Given the description of an element on the screen output the (x, y) to click on. 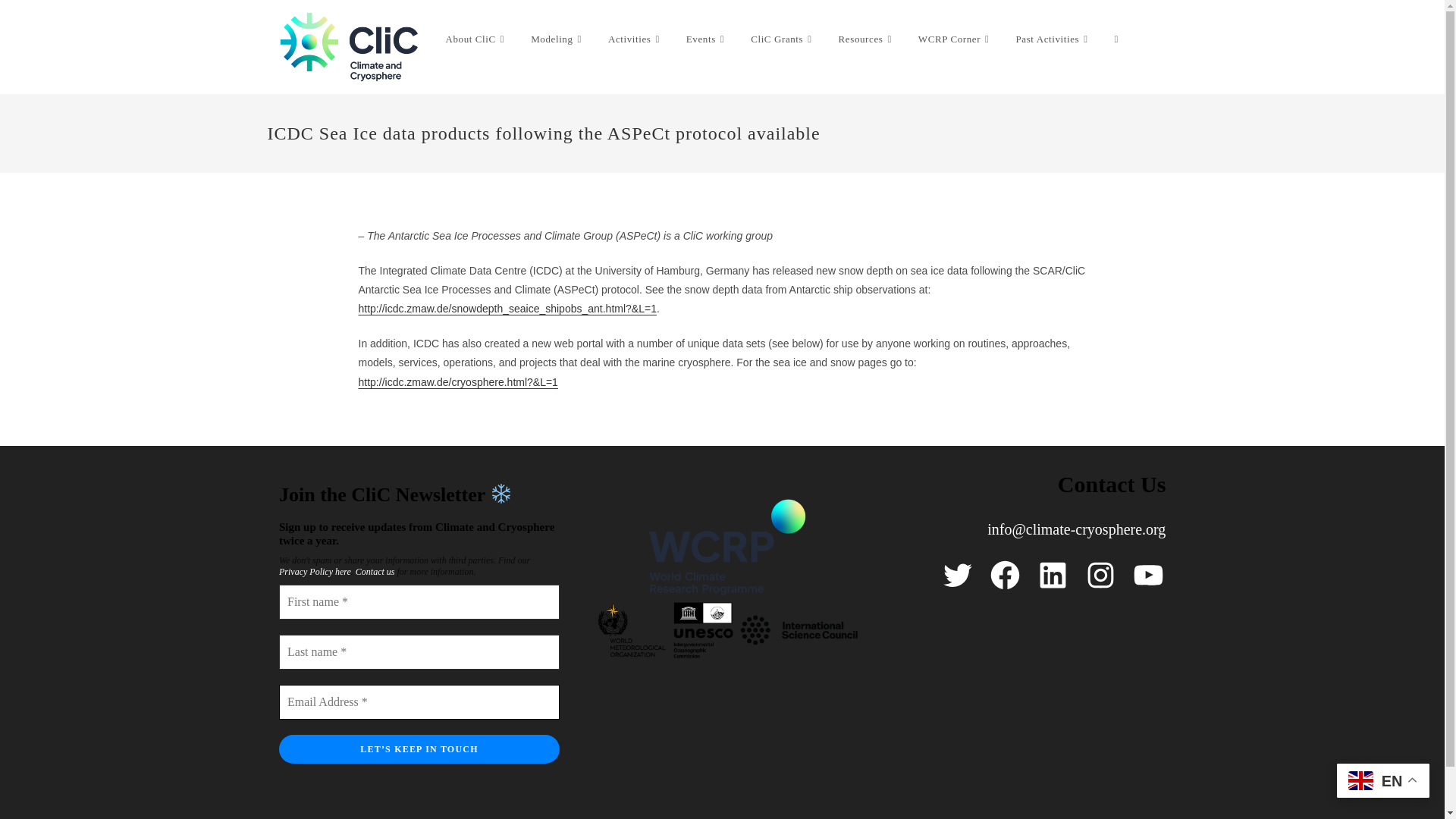
Modeling (557, 39)
First name (419, 601)
Email Address (419, 701)
Activities (635, 39)
Last name (419, 651)
About CliC (476, 39)
